Given the description of an element on the screen output the (x, y) to click on. 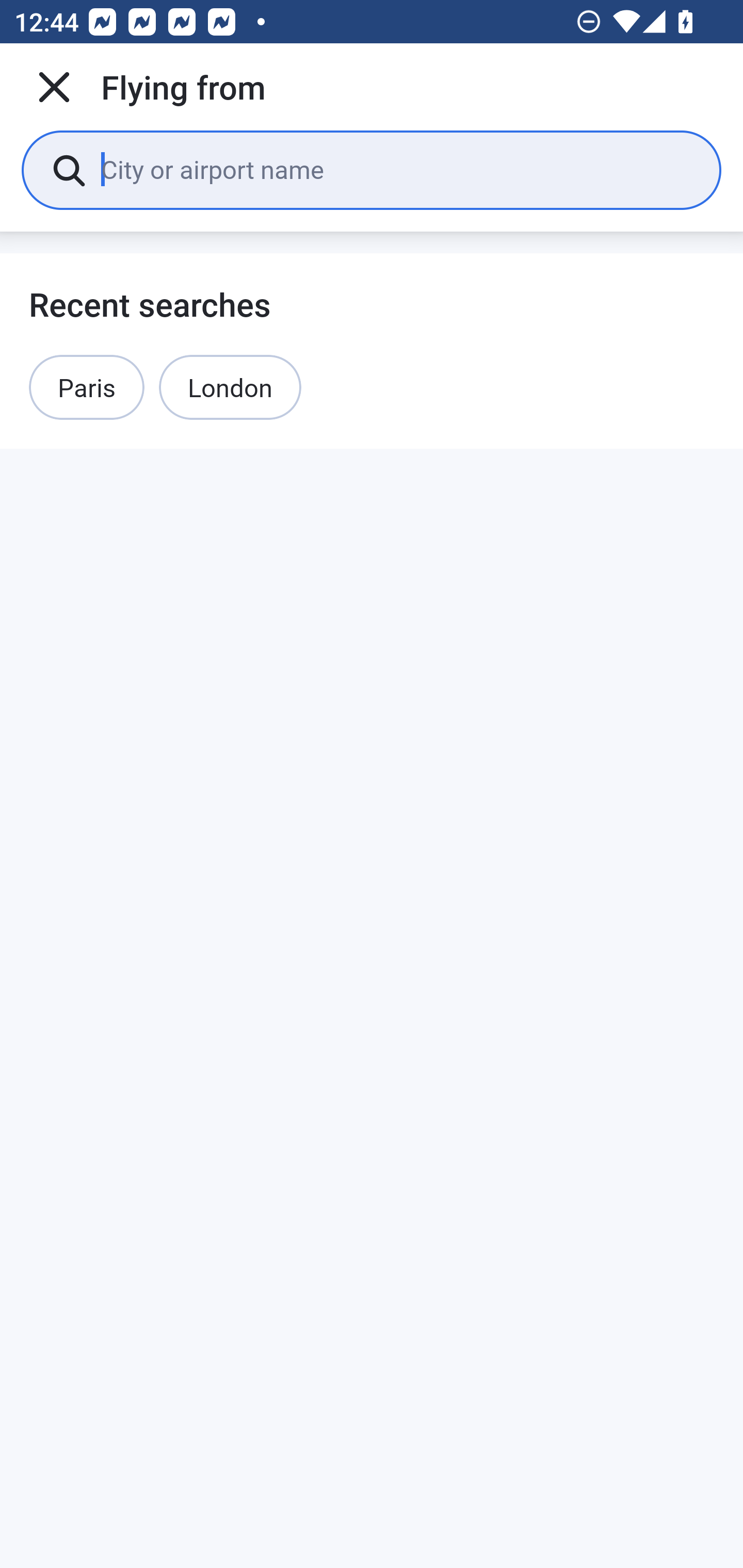
City or airport name (396, 169)
Paris (86, 387)
London (230, 387)
